Given the description of an element on the screen output the (x, y) to click on. 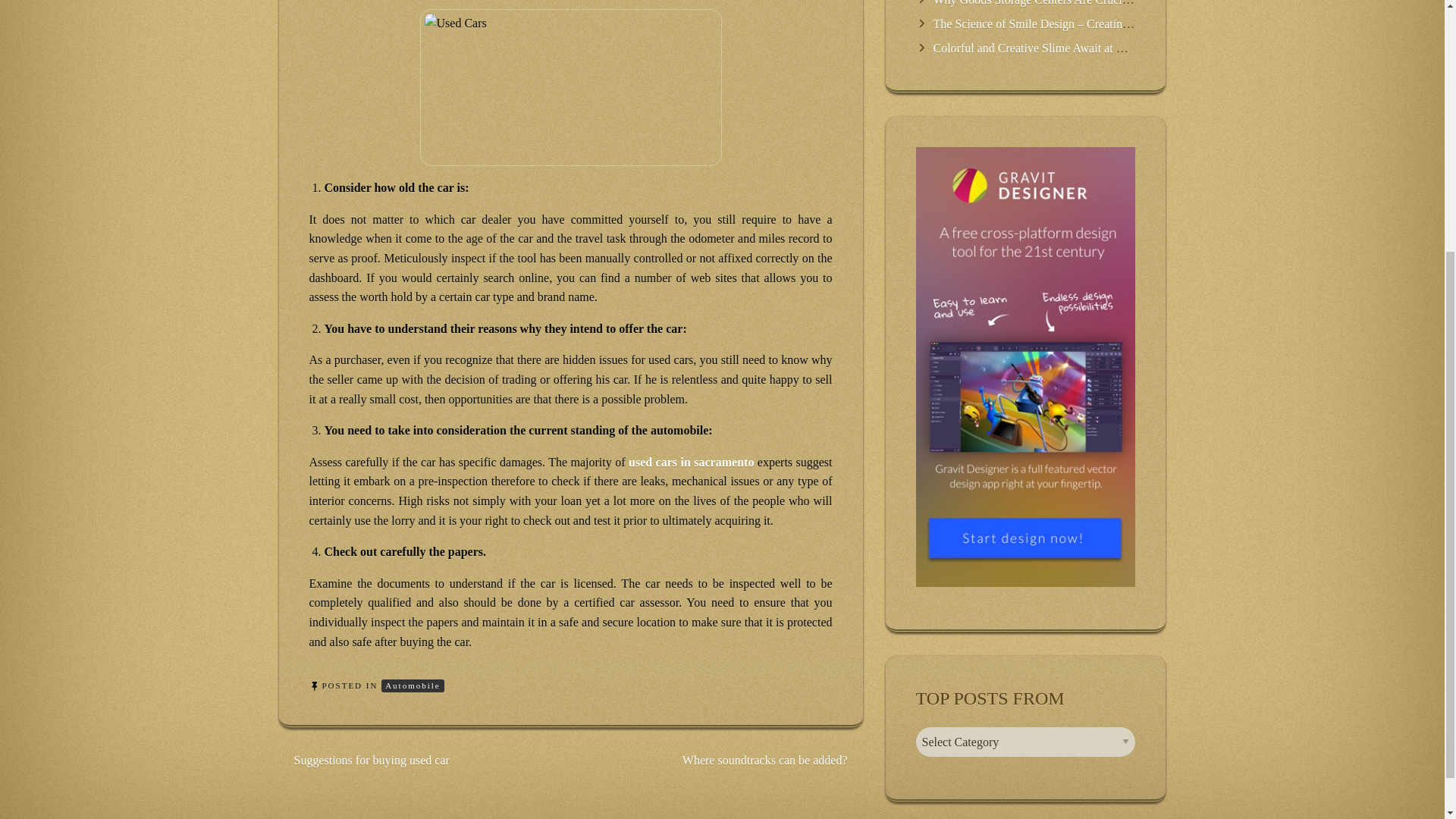
used cars in sacramento (691, 461)
Suggestions for buying used car (371, 759)
Colorful and Creative Slime Await at Our Variety Shop (1066, 47)
Where soundtracks can be added? (764, 759)
Automobile (412, 685)
